Given the description of an element on the screen output the (x, y) to click on. 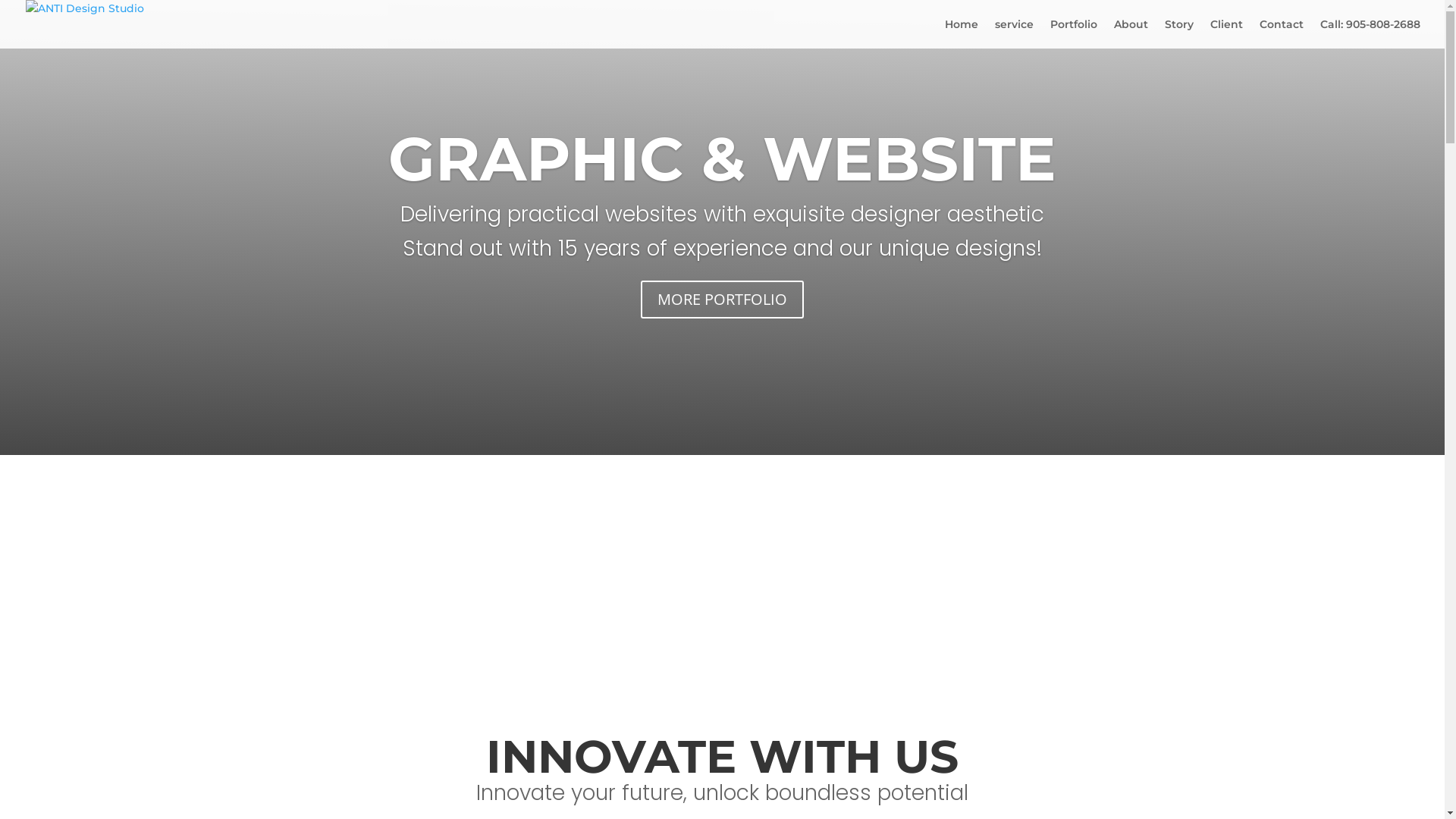
MORE PORTFOLIO Element type: text (721, 299)
service Element type: text (1013, 33)
Home Element type: text (961, 33)
Call: 905-808-2688 Element type: text (1370, 33)
Client Element type: text (1226, 33)
Story Element type: text (1178, 33)
Portfolio Element type: text (1073, 33)
Contact Element type: text (1281, 33)
About Element type: text (1130, 33)
